Given the description of an element on the screen output the (x, y) to click on. 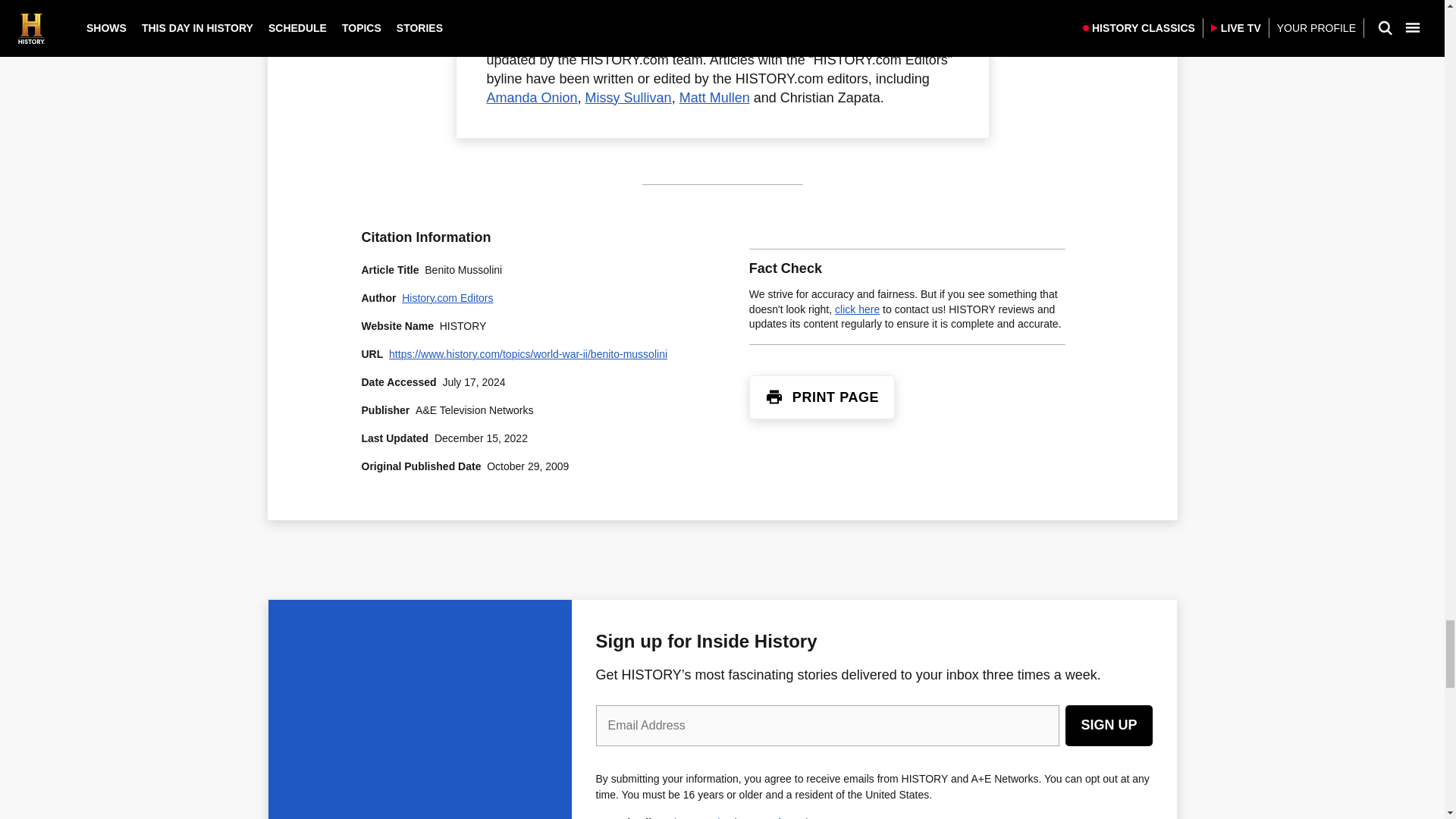
Print (774, 397)
